Given the description of an element on the screen output the (x, y) to click on. 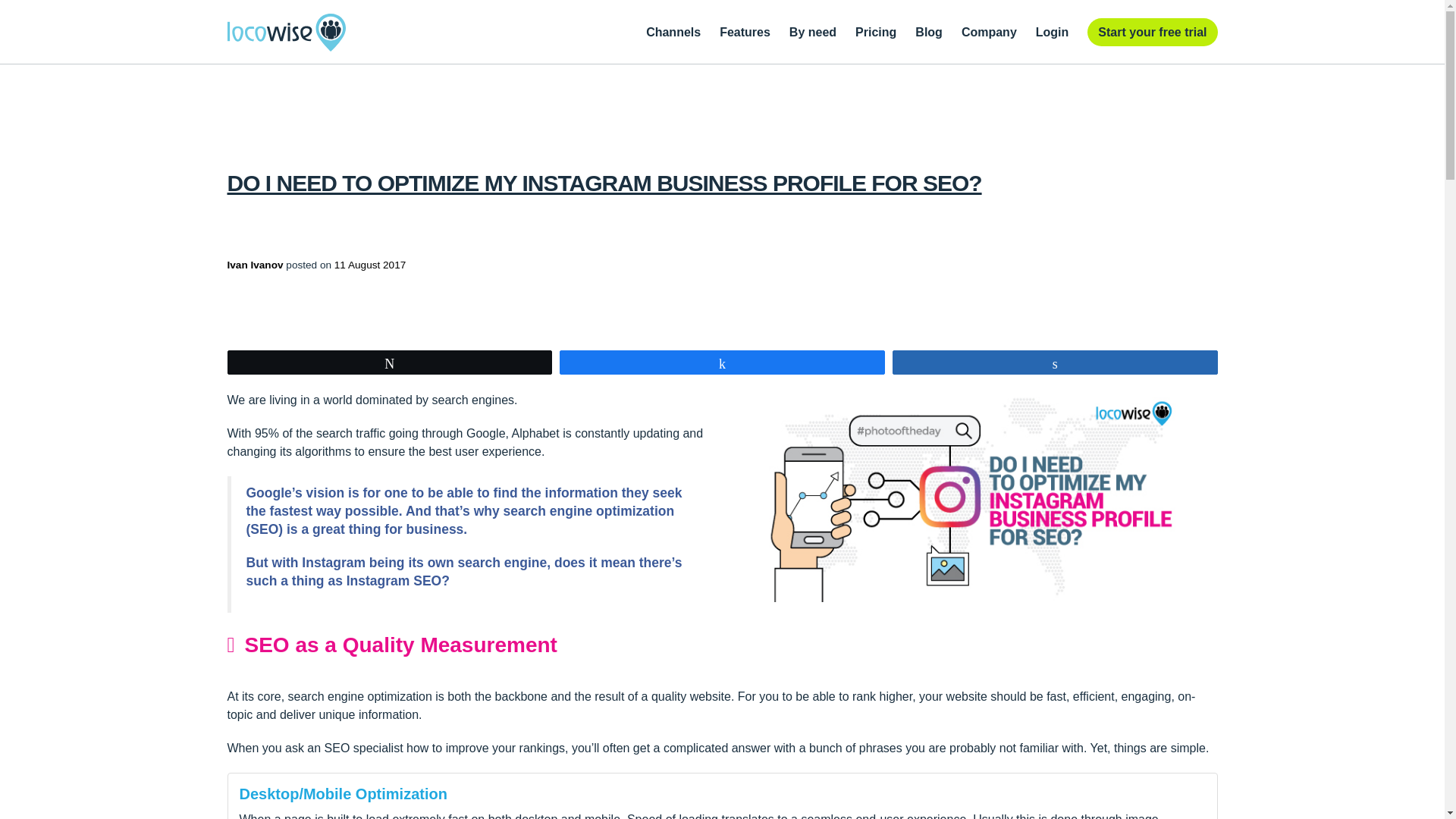
Company (988, 31)
Do I Need To Optimize My Instagram Business Profile For SEO? (604, 182)
DO I NEED TO OPTIMIZE MY INSTAGRAM BUSINESS PROFILE FOR SEO? (604, 182)
Channels (673, 31)
By need (812, 31)
Start your free trial (1152, 31)
Features (744, 31)
